Given the description of an element on the screen output the (x, y) to click on. 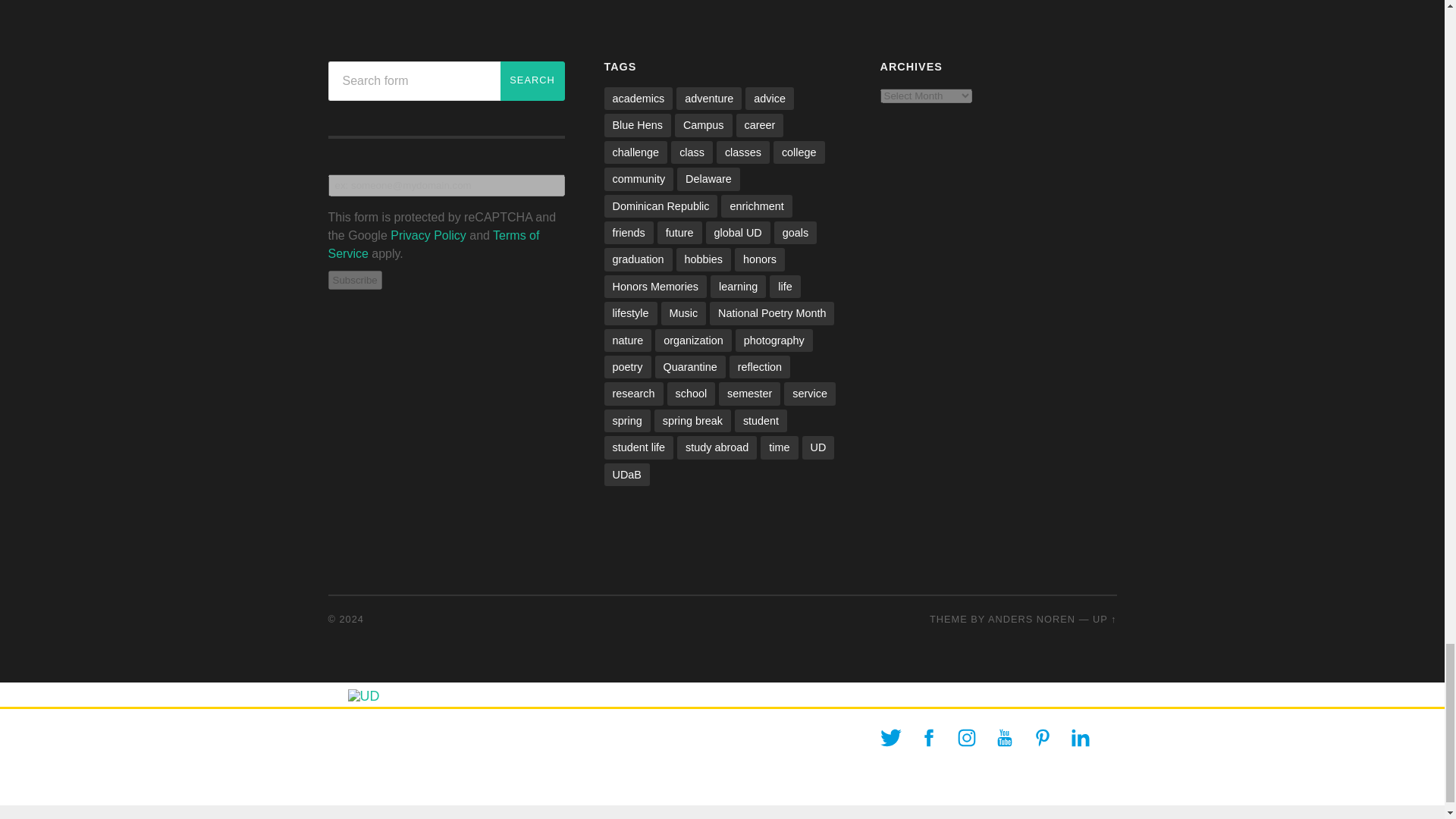
To the top (1104, 618)
Subscribe (354, 280)
Search (532, 80)
